Given the description of an element on the screen output the (x, y) to click on. 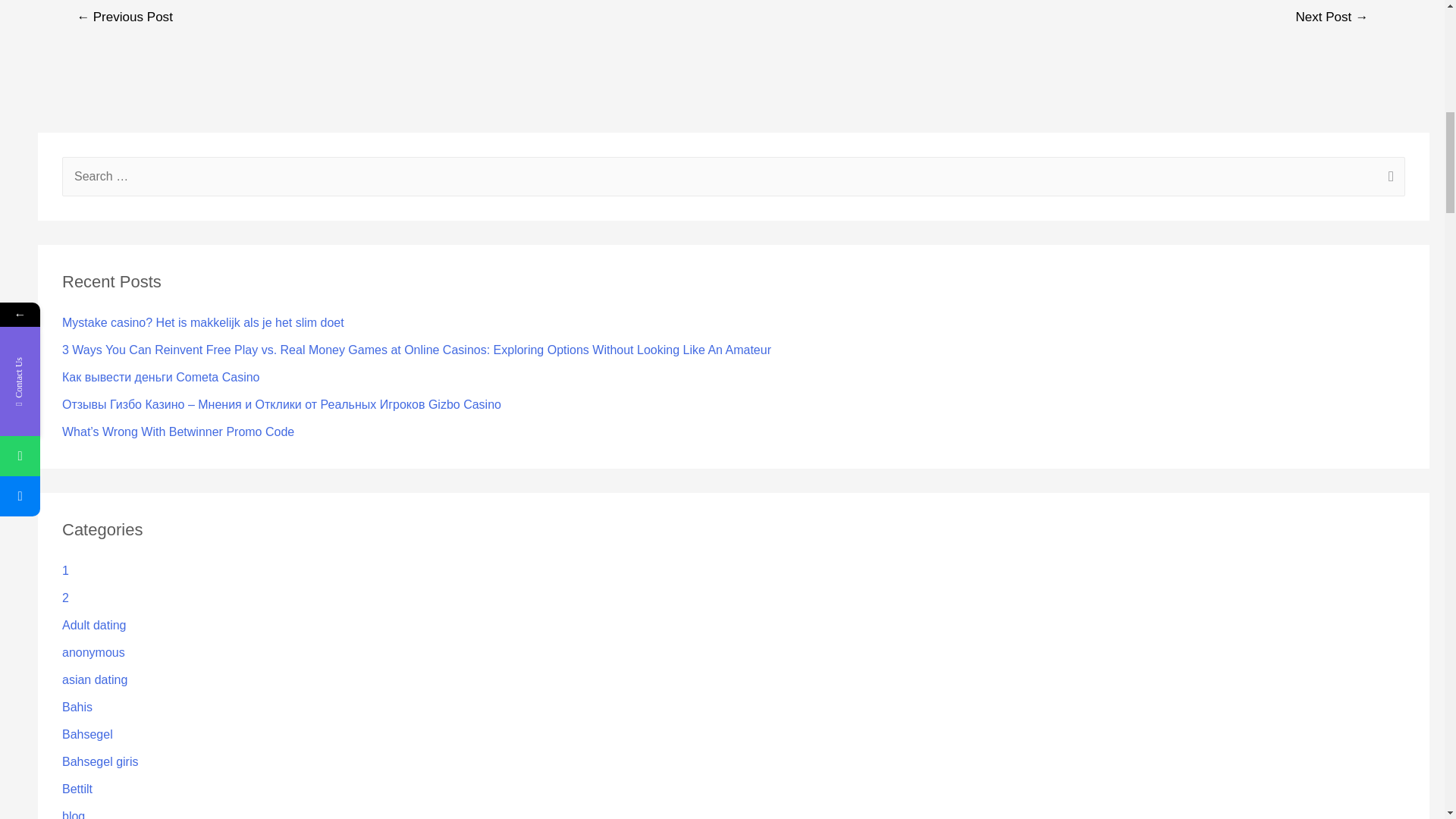
asian dating (95, 679)
1 (65, 570)
Bahsegel (87, 734)
Search (1388, 178)
Mystake casino? Het is makkelijk als je het slim doet (202, 322)
2 (65, 597)
Adult dating (94, 625)
Bahis (77, 707)
Search (1388, 178)
Search (1388, 178)
anonymous (93, 652)
